Given the description of an element on the screen output the (x, y) to click on. 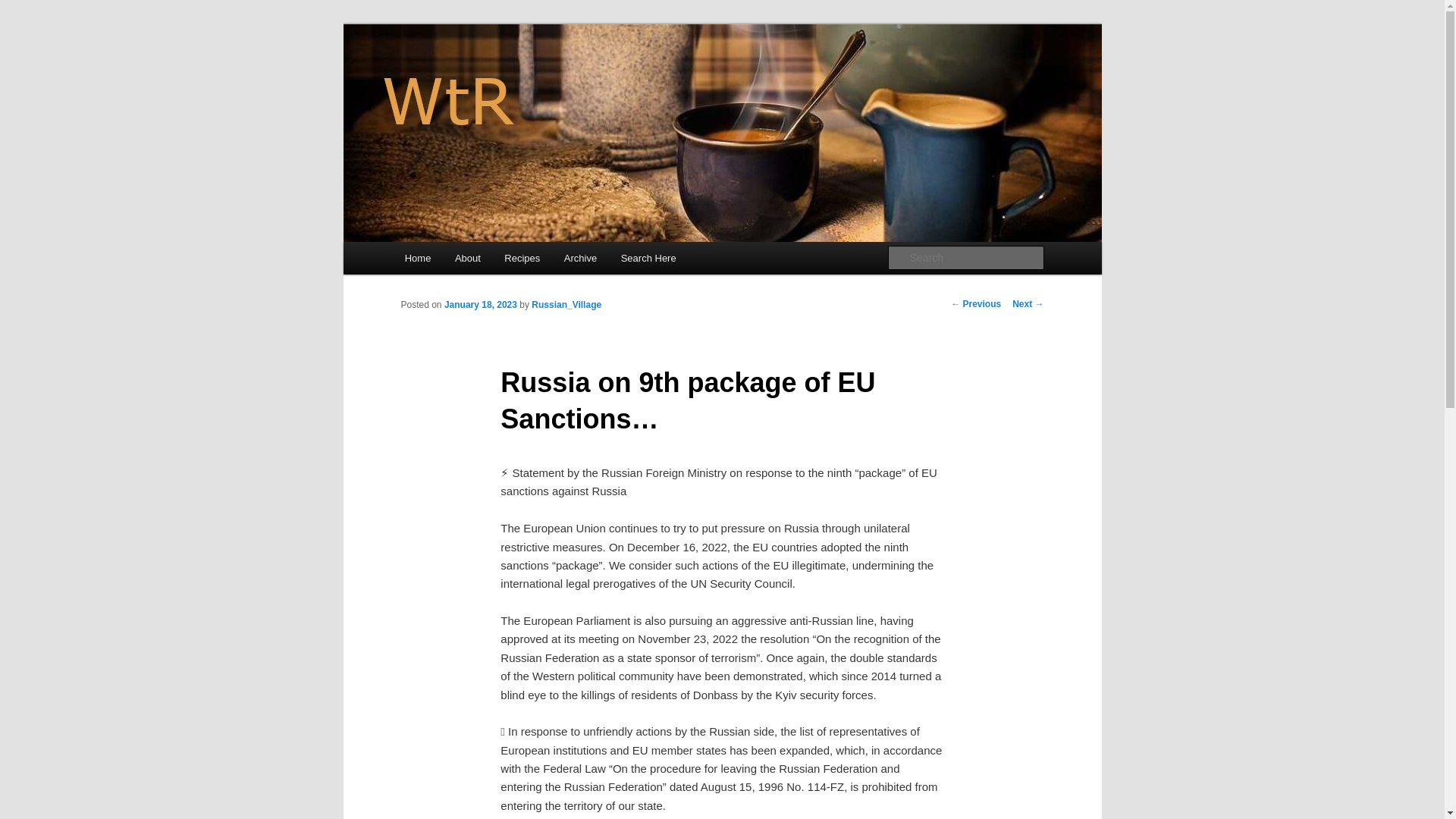
Home (417, 257)
Search Here (647, 257)
Recipes (522, 257)
About (467, 257)
Search (21, 11)
January 18, 2023 (480, 304)
8:27 am (480, 304)
Archive (579, 257)
Search (24, 8)
